Given the description of an element on the screen output the (x, y) to click on. 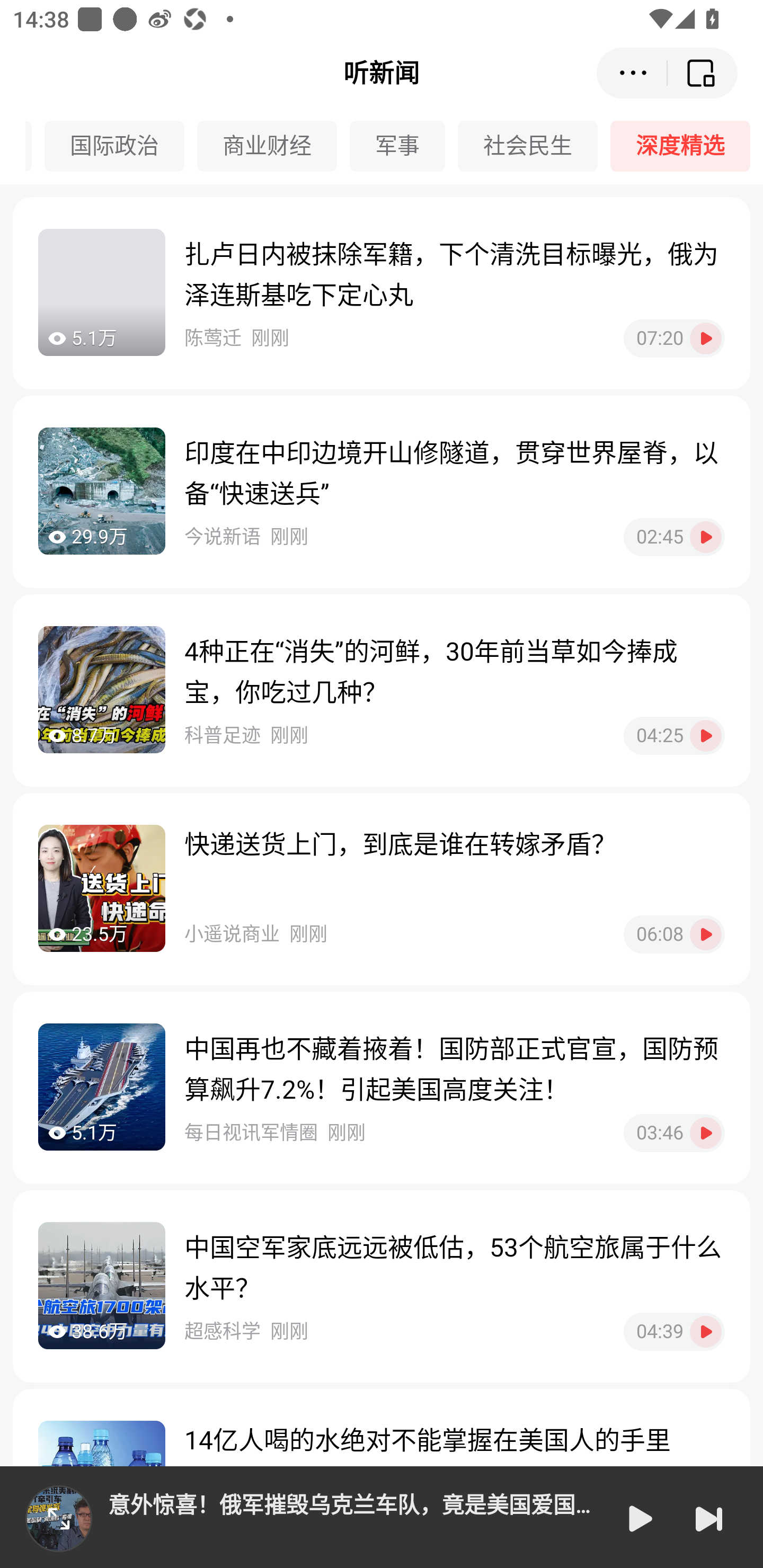
更多 (631, 72)
返回 (702, 72)
国际政治 (120, 146)
商业财经 (272, 146)
军事 (403, 146)
社会民生 (533, 146)
深度精选 (686, 146)
5.1万 扎卢日内被抹除军籍，下个清洗目标曝光，俄为泽连斯基吃下定心丸 陈莺迁刚刚 07:20 (381, 292)
07:20 (673, 338)
29.9万 印度在中印边境开山修隧道，贯穿世界屋脊，以备“快速送兵” 今说新语刚刚 02:45 (381, 491)
02:45 (673, 536)
8.7万 4种正在“消失”的河鲜，30年前当草如今捧成宝，你吃过几种？ 科普足迹刚刚 04:25 (381, 690)
04:25 (673, 735)
23.5万 快递送货上门，到底是谁在转嫁矛盾？ 小遥说商业刚刚 06:08 (381, 888)
06:08 (673, 934)
03:46 (673, 1132)
38.6万 中国空军家底远远被低估，53个航空旅属于什么水平？ 超感科学刚刚 04:39 (381, 1286)
04:39 (673, 1331)
音频播放页 意外惊喜！俄军摧毁乌克兰车队，竟是美国爱国者防空导弹 播放 下一篇 (381, 1517)
播放 (638, 1518)
下一篇 (708, 1518)
